Given the description of an element on the screen output the (x, y) to click on. 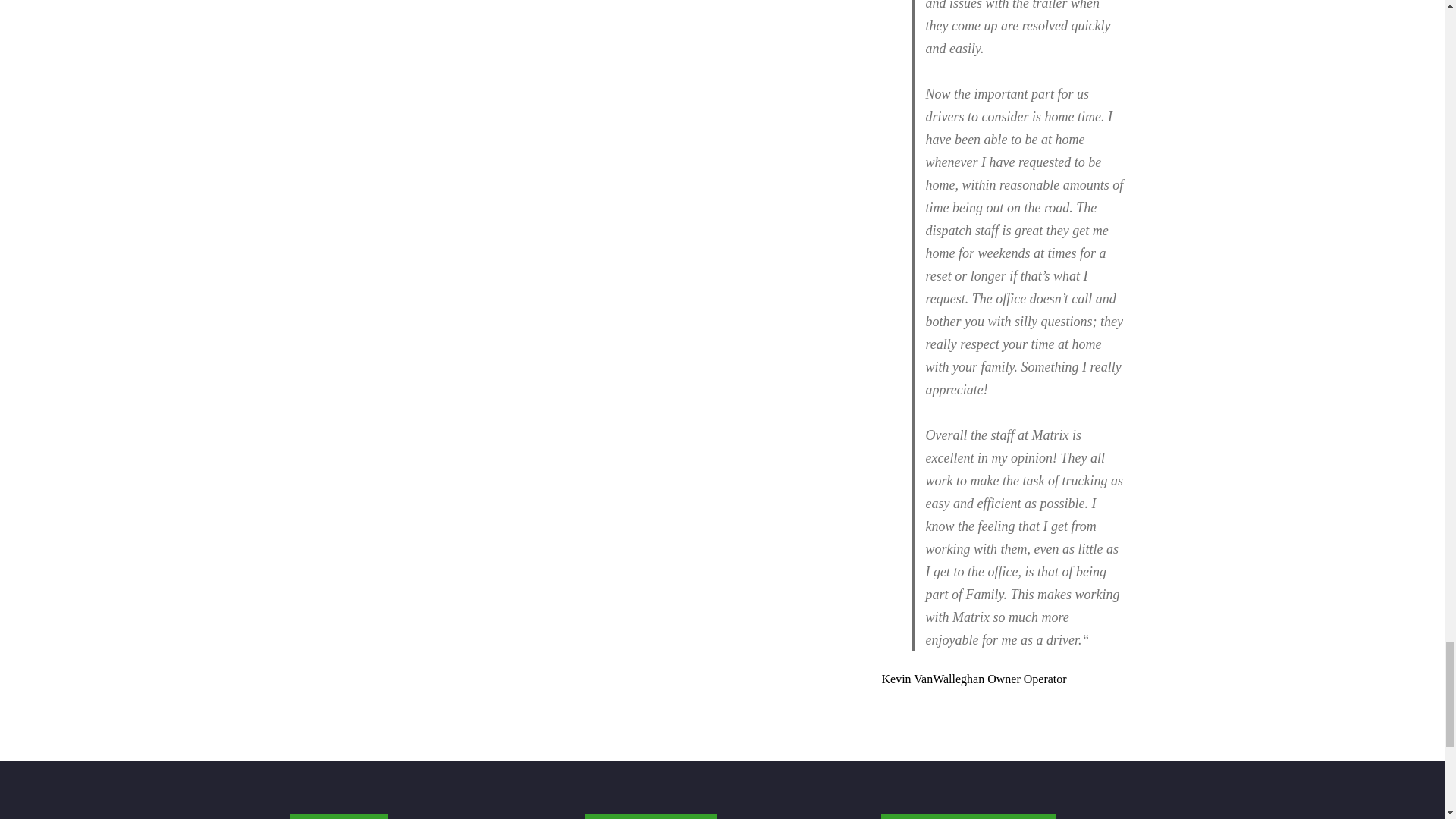
view all (1017, 719)
